Given the description of an element on the screen output the (x, y) to click on. 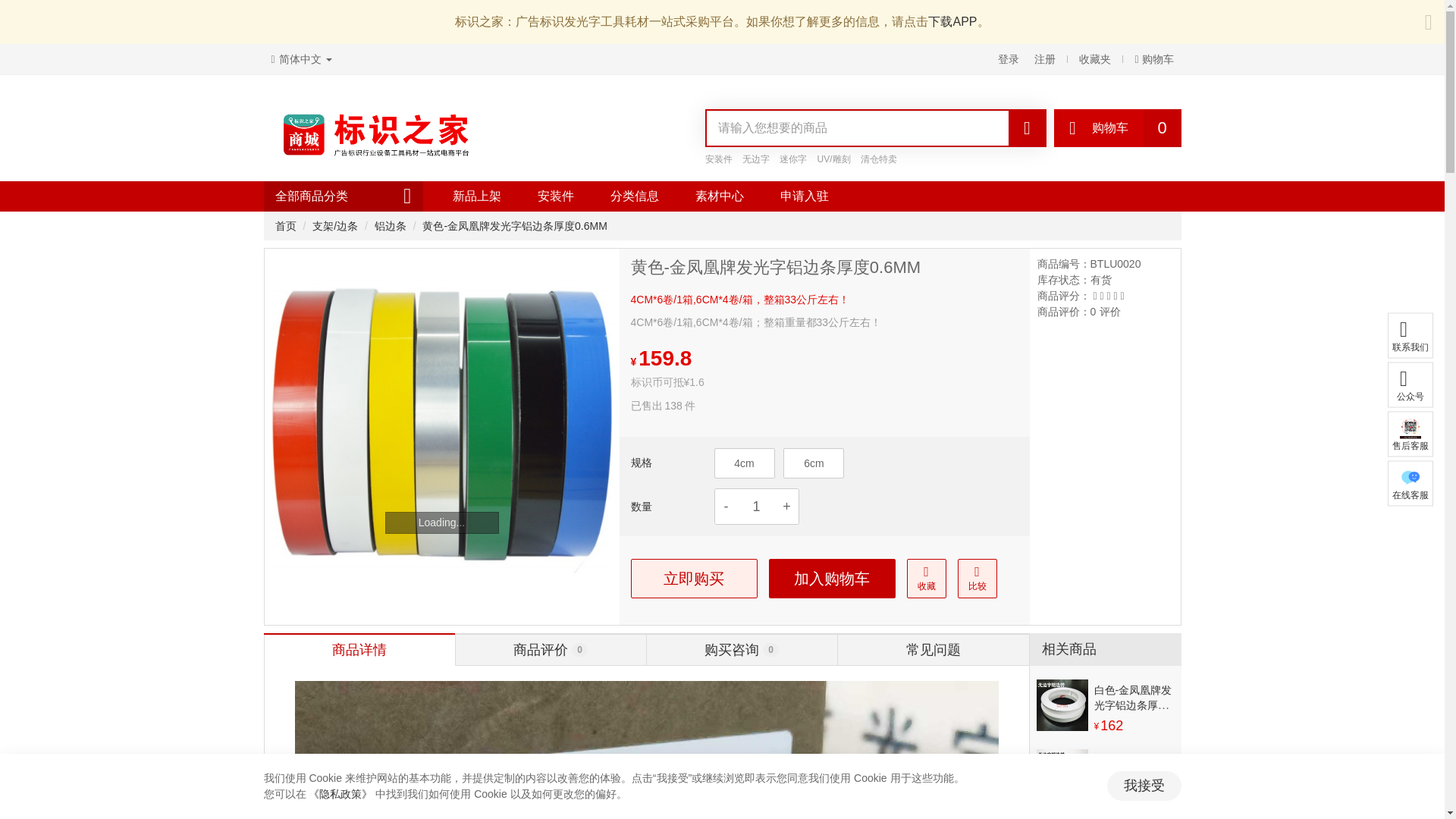
- (725, 506)
1 (755, 506)
